Given the description of an element on the screen output the (x, y) to click on. 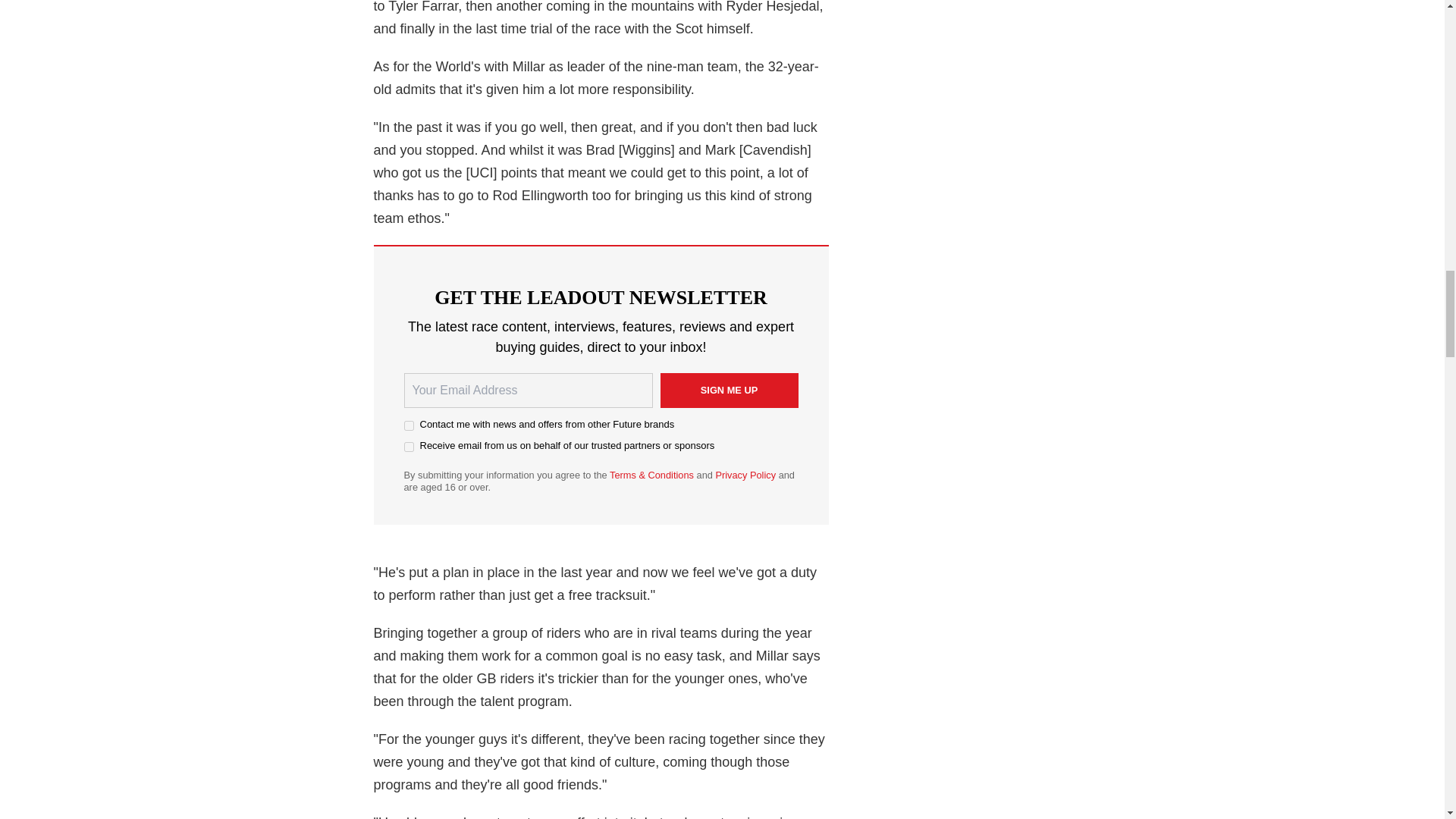
on (408, 447)
Sign me up (728, 390)
on (408, 425)
